Given the description of an element on the screen output the (x, y) to click on. 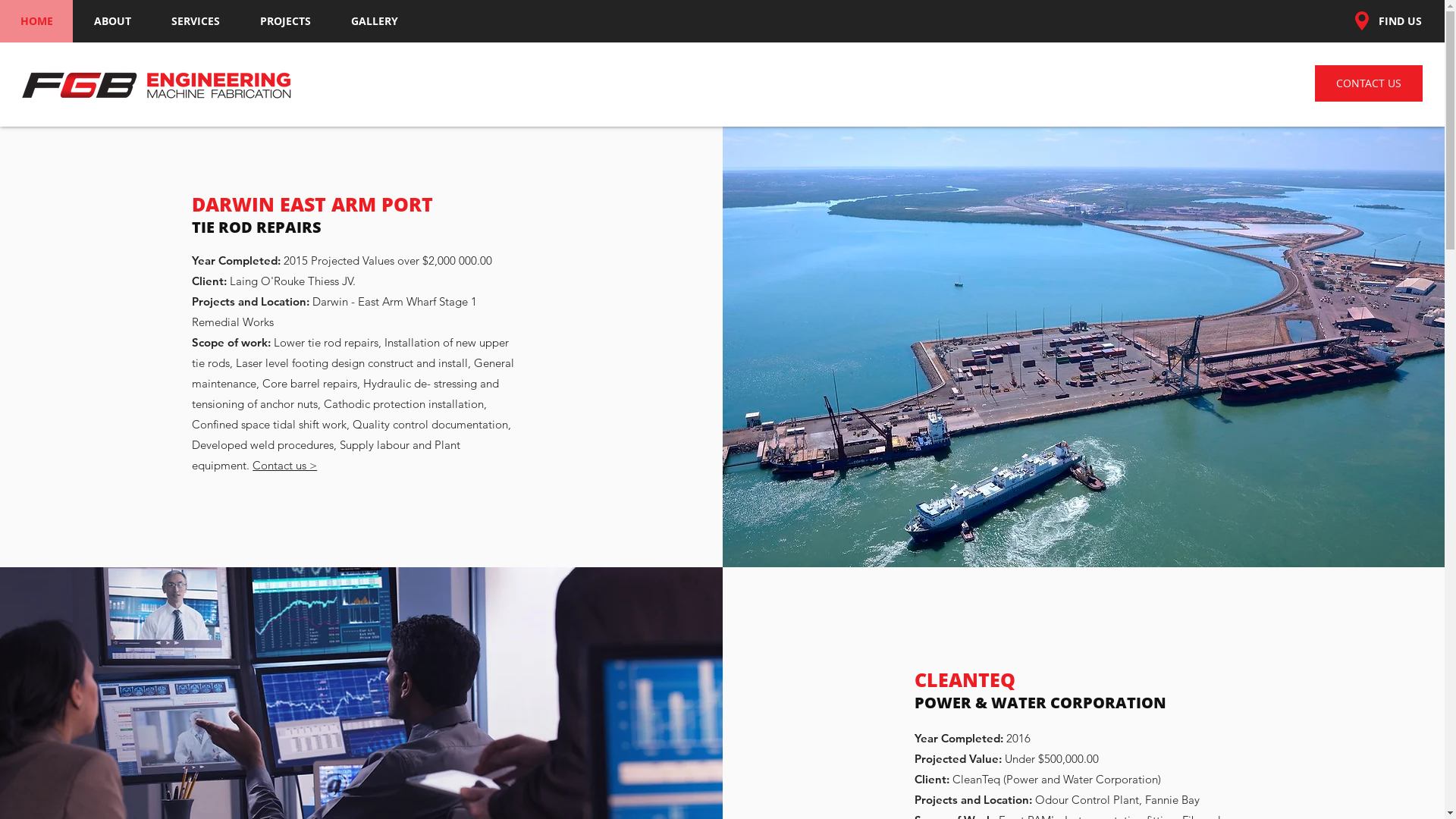
Contact us > Element type: text (284, 465)
CONTACT US Element type: text (1368, 83)
ABOUT Element type: text (111, 21)
GALLERY Element type: text (373, 21)
FIND US Element type: text (1399, 21)
HOME Element type: text (36, 21)
SERVICES Element type: text (194, 21)
